Given the description of an element on the screen output the (x, y) to click on. 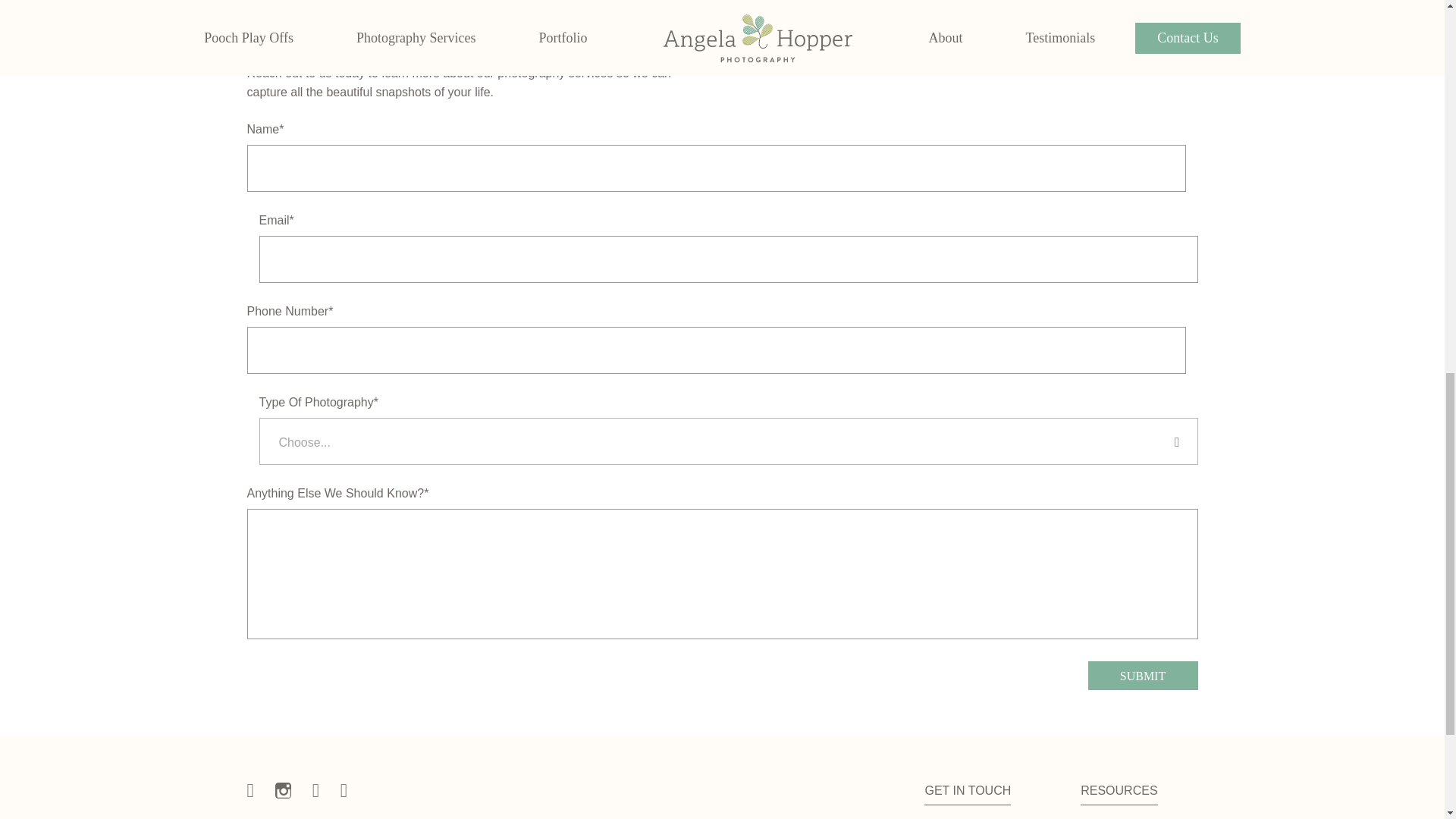
Submit (1141, 675)
